Given the description of an element on the screen output the (x, y) to click on. 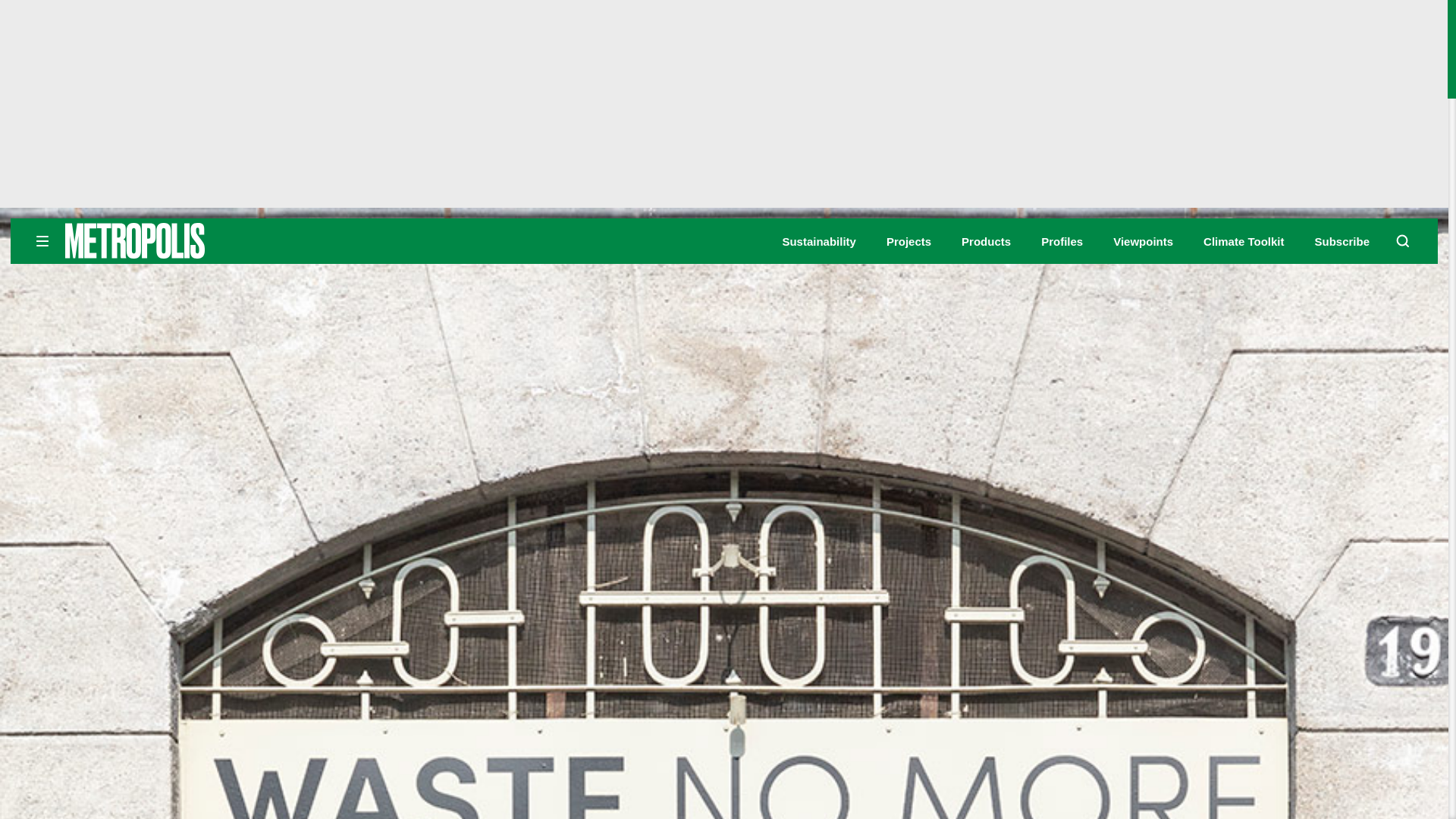
Sustainability (818, 241)
Projects (908, 241)
Products (985, 241)
METROPOLIS (181, 240)
Subscribe (1342, 241)
Viewpoints (1143, 241)
Profiles (1062, 241)
Climate Toolkit (1244, 241)
